Given the description of an element on the screen output the (x, y) to click on. 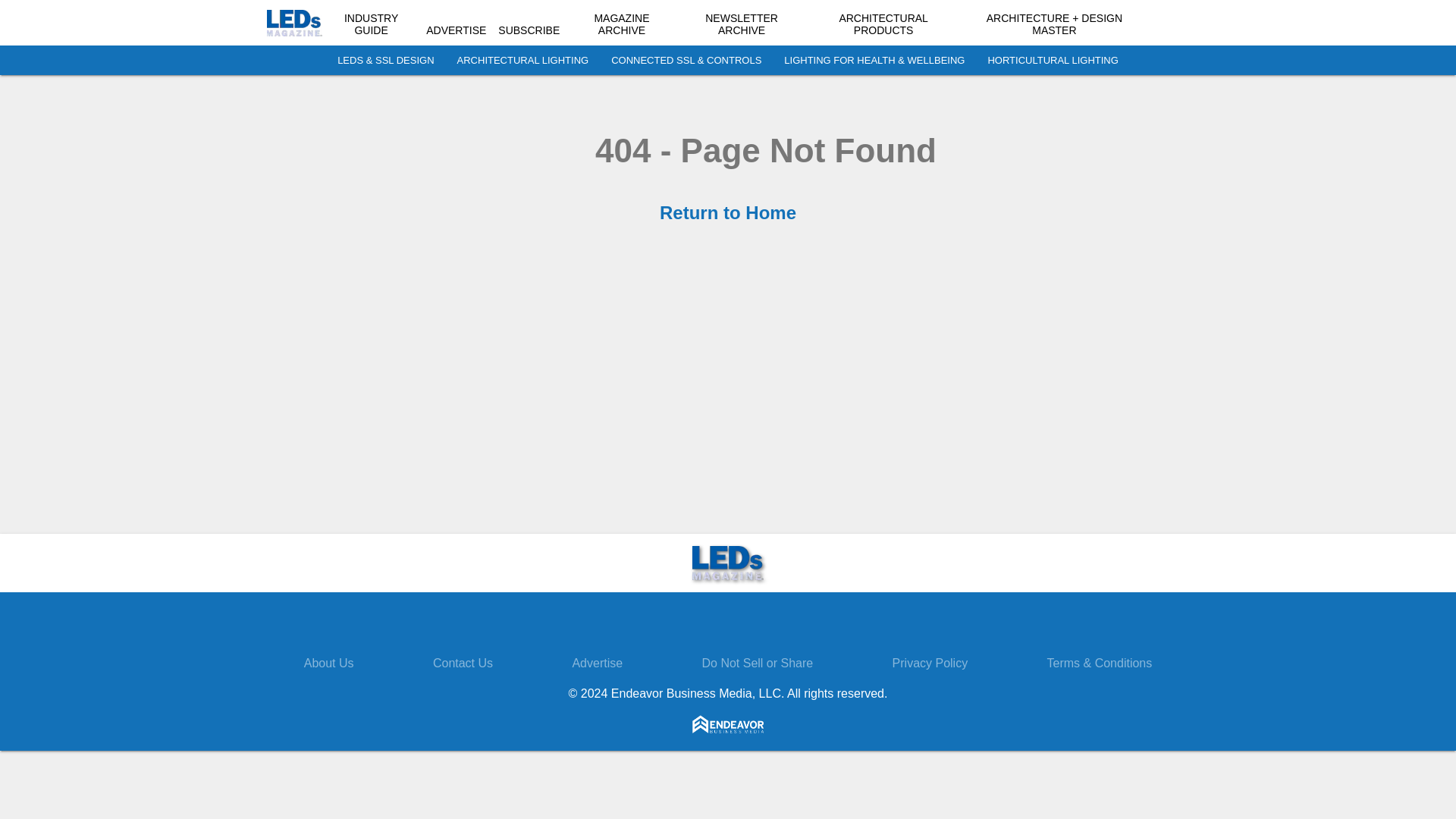
ADVERTISE (456, 30)
HORTICULTURAL LIGHTING (1052, 60)
MAGAZINE ARCHIVE (621, 24)
NEWSLETTER ARCHIVE (740, 24)
INDUSTRY GUIDE (370, 24)
Return to Home (727, 212)
ARCHITECTURAL PRODUCTS (882, 24)
Contact Us (462, 662)
Advertise (597, 662)
SUBSCRIBE (528, 30)
ARCHITECTURAL LIGHTING (523, 60)
About Us (328, 662)
Do Not Sell or Share (756, 662)
Privacy Policy (930, 662)
